Given the description of an element on the screen output the (x, y) to click on. 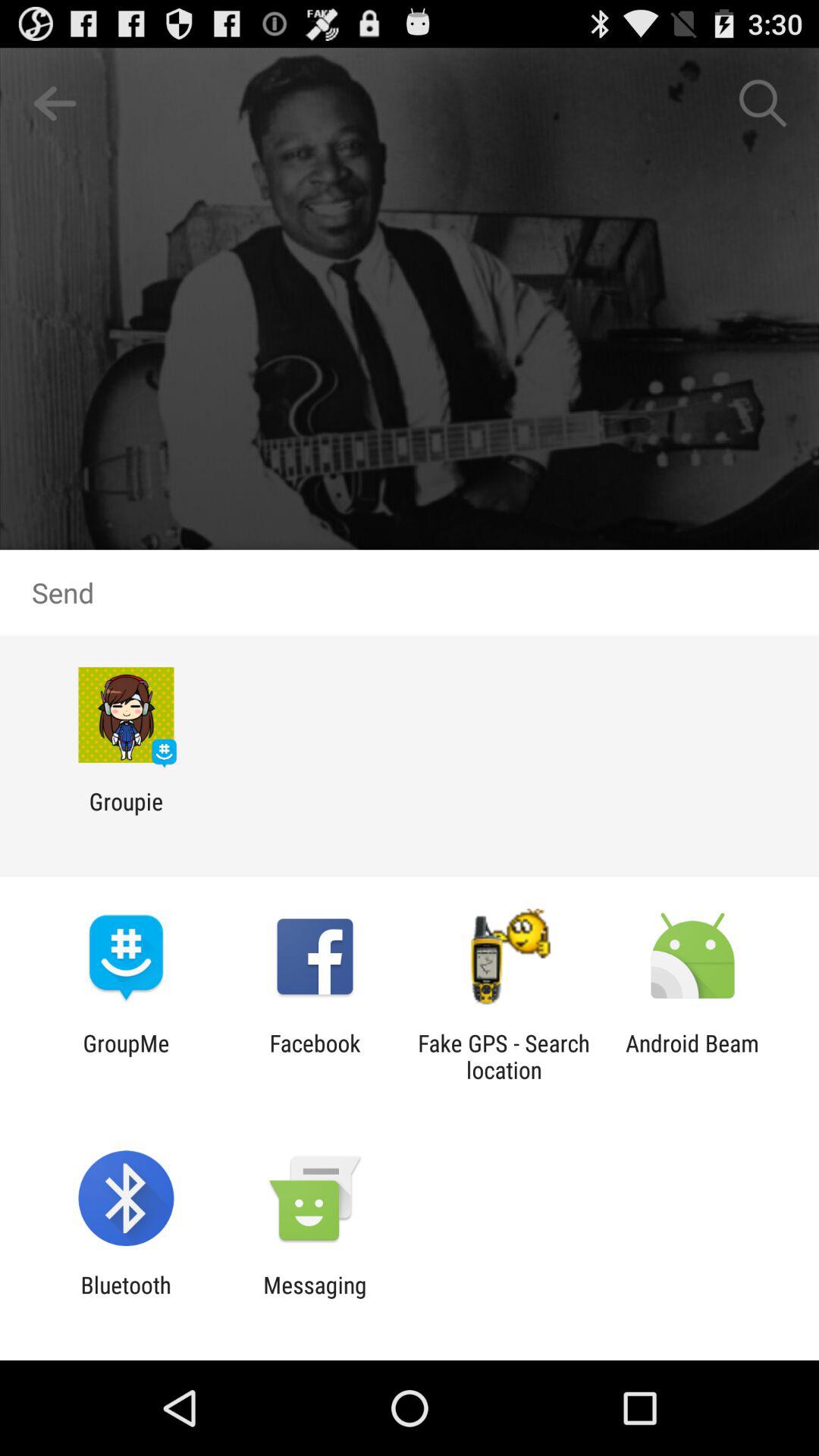
click the android beam app (692, 1056)
